Given the description of an element on the screen output the (x, y) to click on. 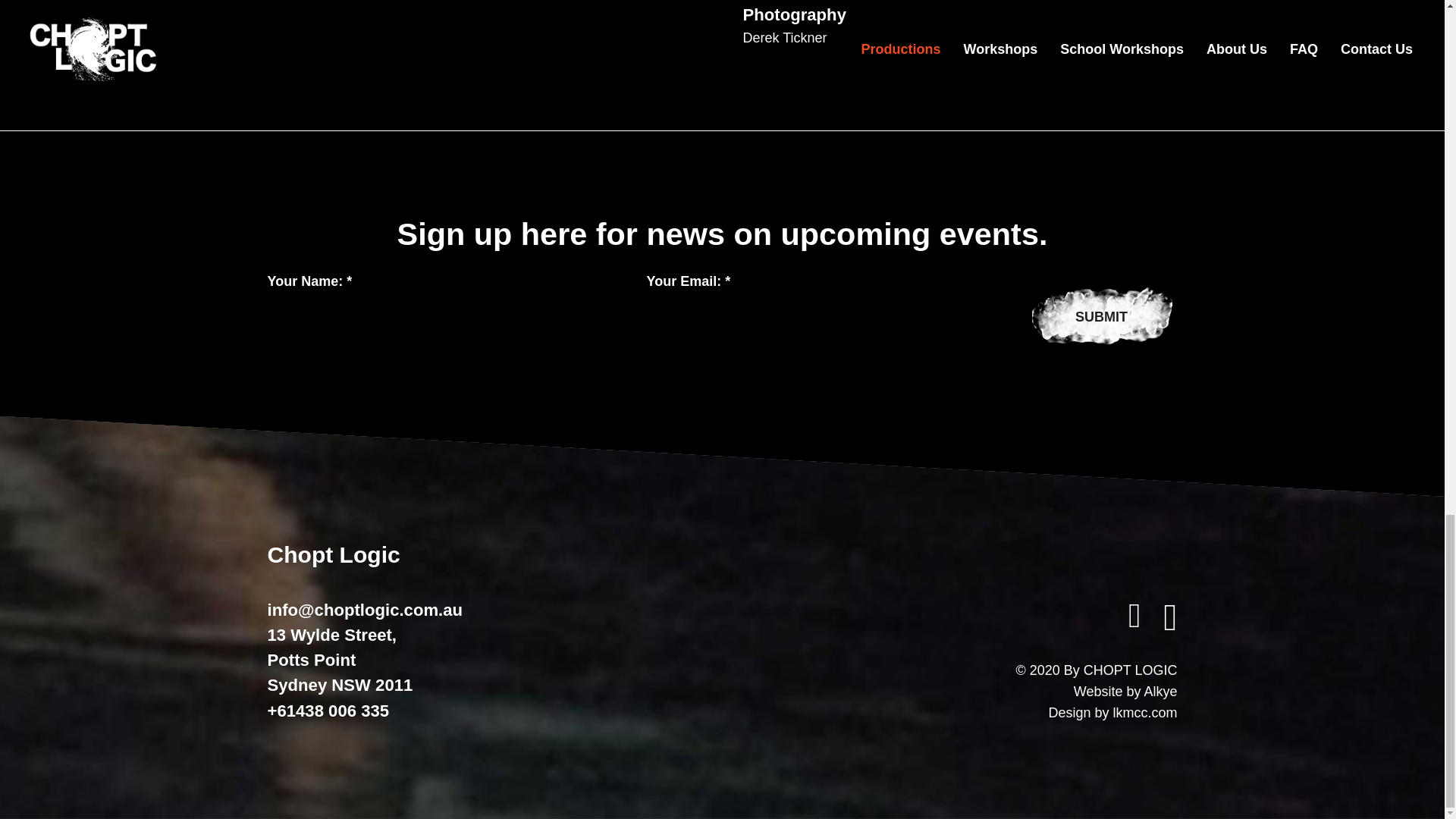
SUBMIT (1100, 317)
Alkye (1159, 691)
lkmcc.com (1145, 712)
